Given the description of an element on the screen output the (x, y) to click on. 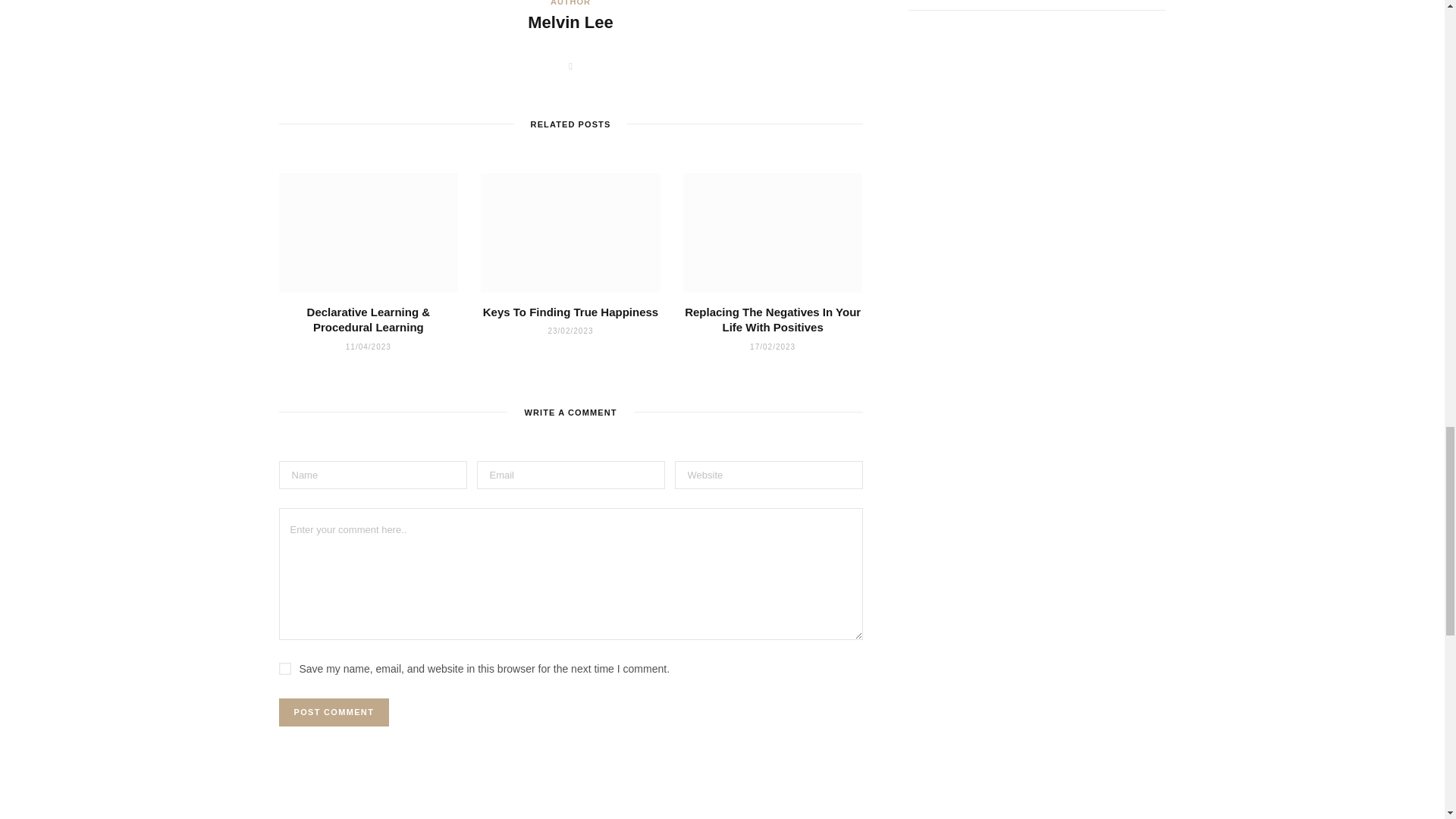
Keys To Finding True Happiness (570, 311)
yes (285, 668)
Melvin Lee (569, 23)
Post Comment (334, 712)
